Given the description of an element on the screen output the (x, y) to click on. 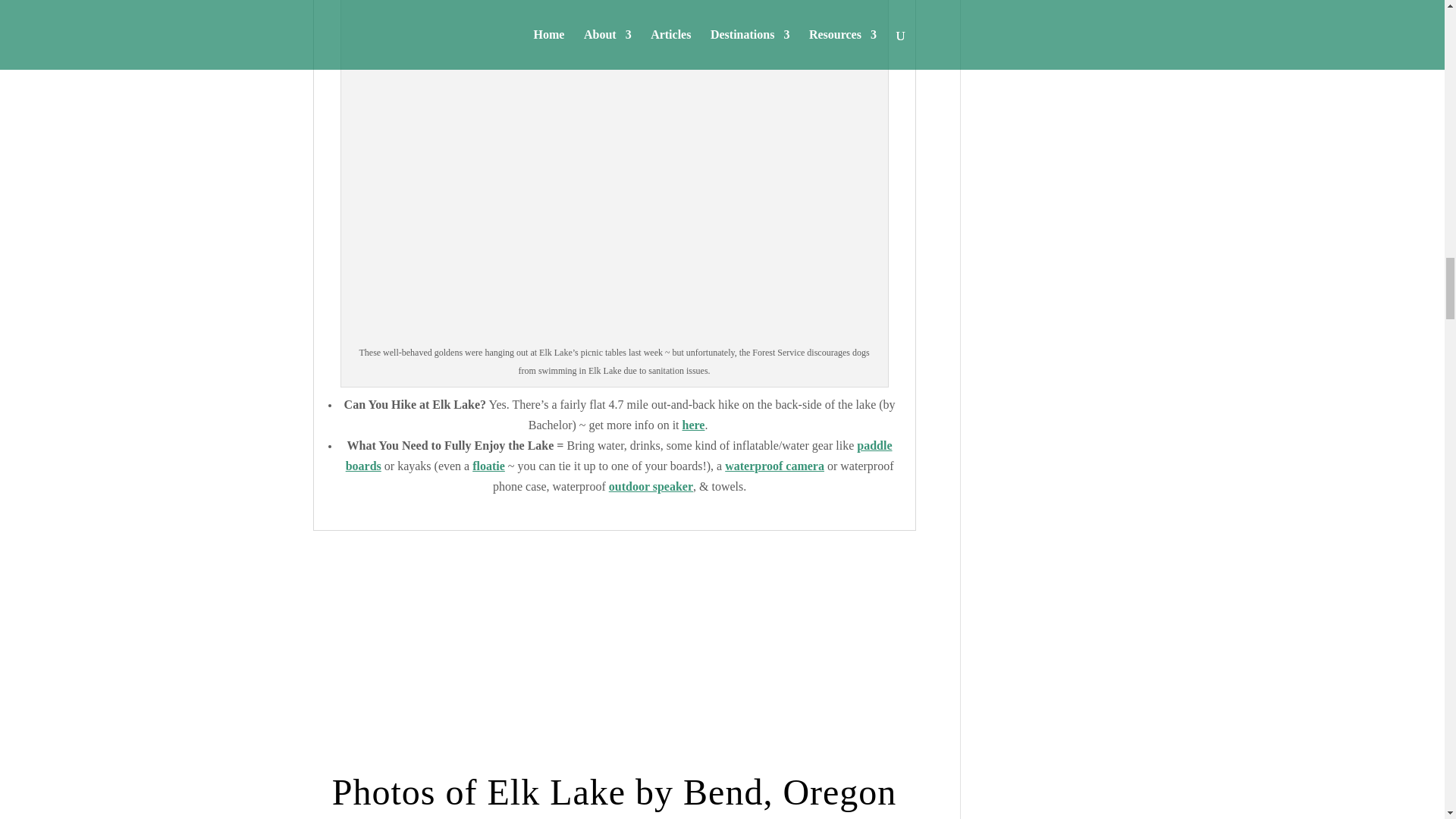
here (693, 424)
paddle boards (619, 455)
waterproof camera (774, 465)
floatie (488, 465)
outdoor speaker (650, 486)
